Given the description of an element on the screen output the (x, y) to click on. 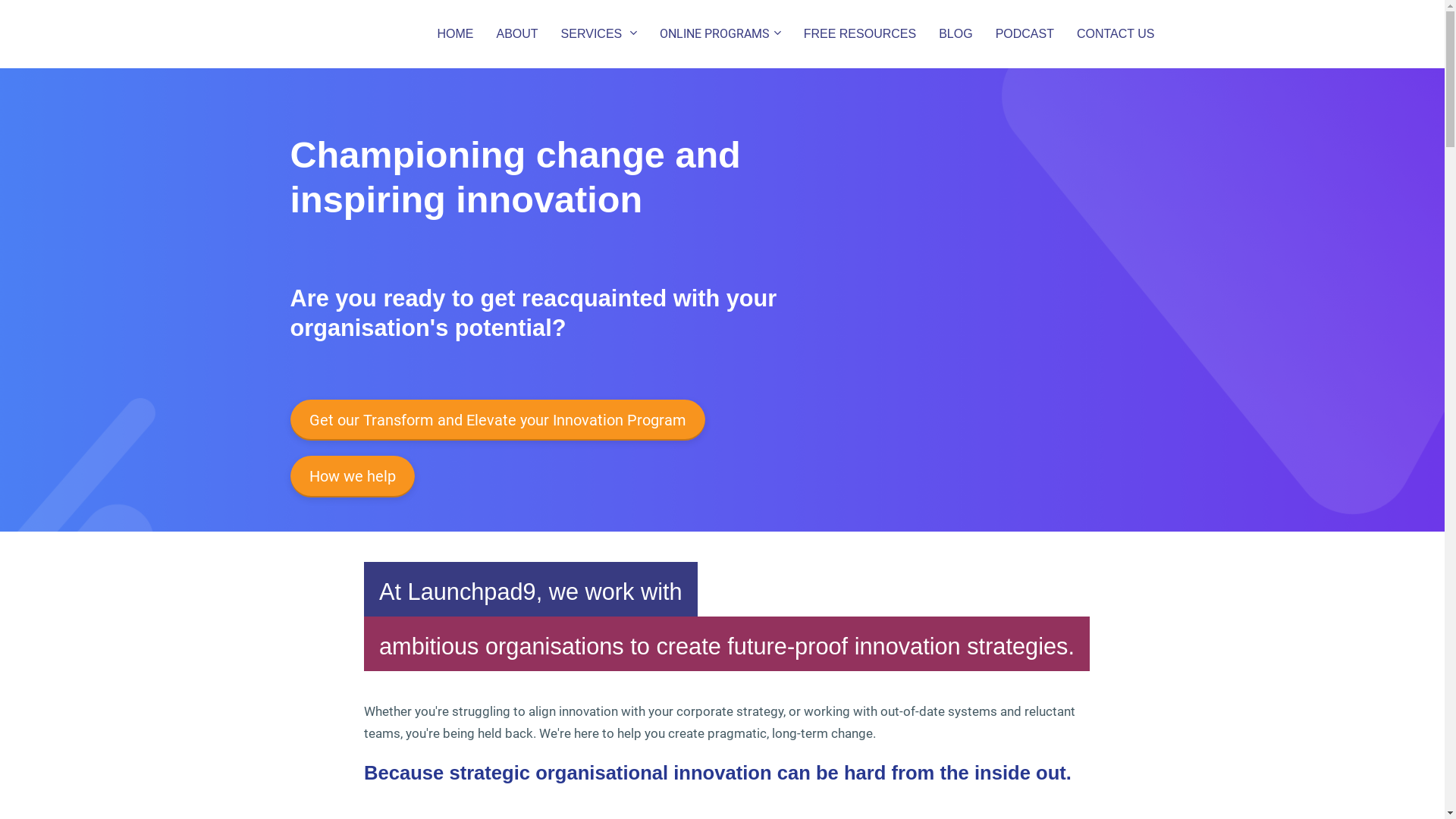
CONTACT US Element type: text (1115, 34)
PODCAST Element type: text (1024, 34)
HOME Element type: text (454, 34)
FREE RESOURCES Element type: text (859, 34)
How we help Element type: text (351, 476)
Get our Transform and Elevate your Innovation Program Element type: text (496, 420)
ABOUT Element type: text (516, 34)
BLOG Element type: text (955, 34)
ONLINE PROGRAMS Element type: text (720, 34)
SERVICES Element type: text (599, 34)
